Given the description of an element on the screen output the (x, y) to click on. 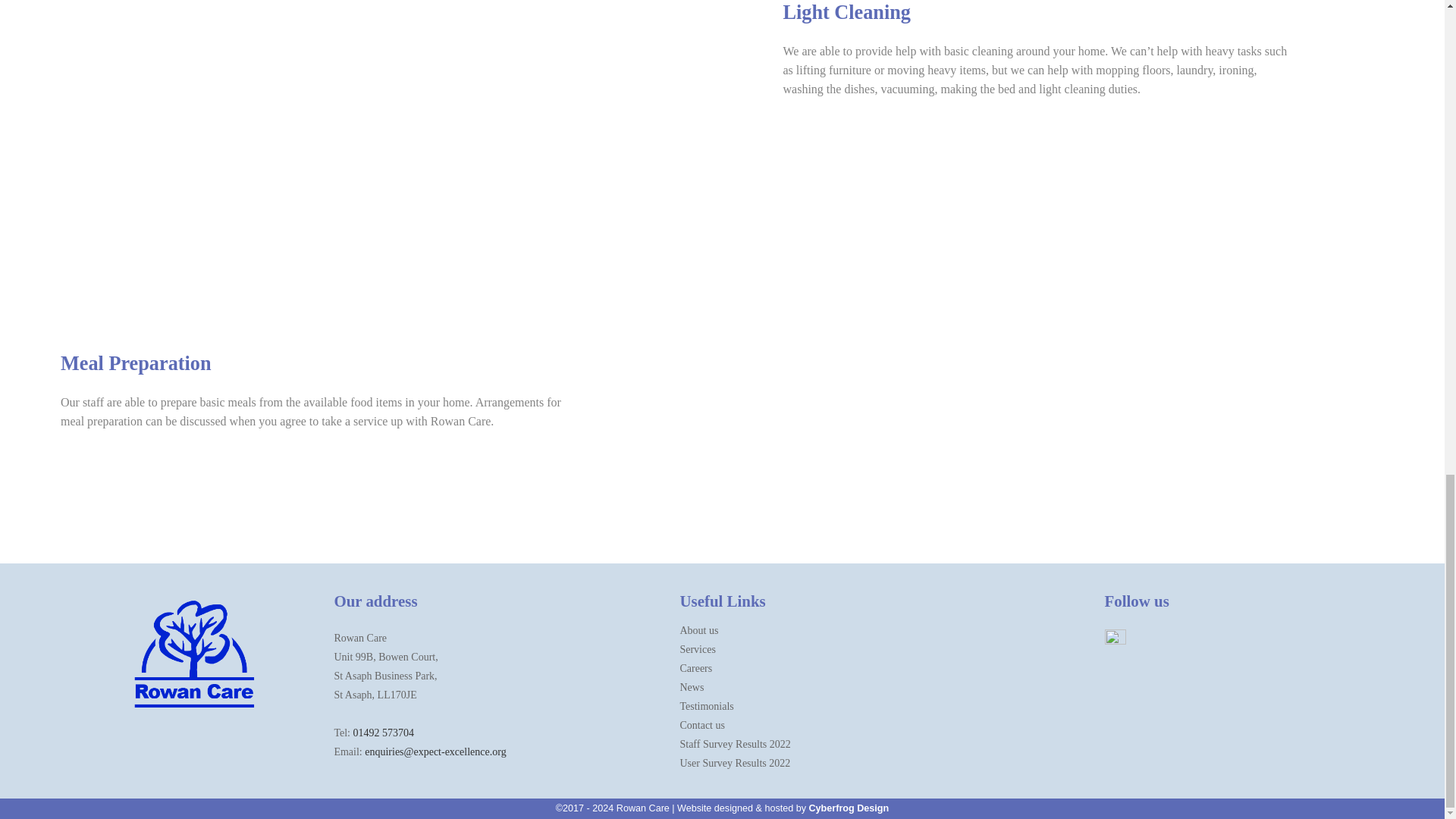
Testimonials (706, 706)
01492 573704 (383, 732)
Careers (695, 668)
About us (698, 630)
Services (696, 649)
Cyberfrog Design (848, 808)
News (691, 686)
Staff Survey Results 2022 (734, 744)
Contact us (702, 725)
User Survey Results 2022 (734, 763)
